Given the description of an element on the screen output the (x, y) to click on. 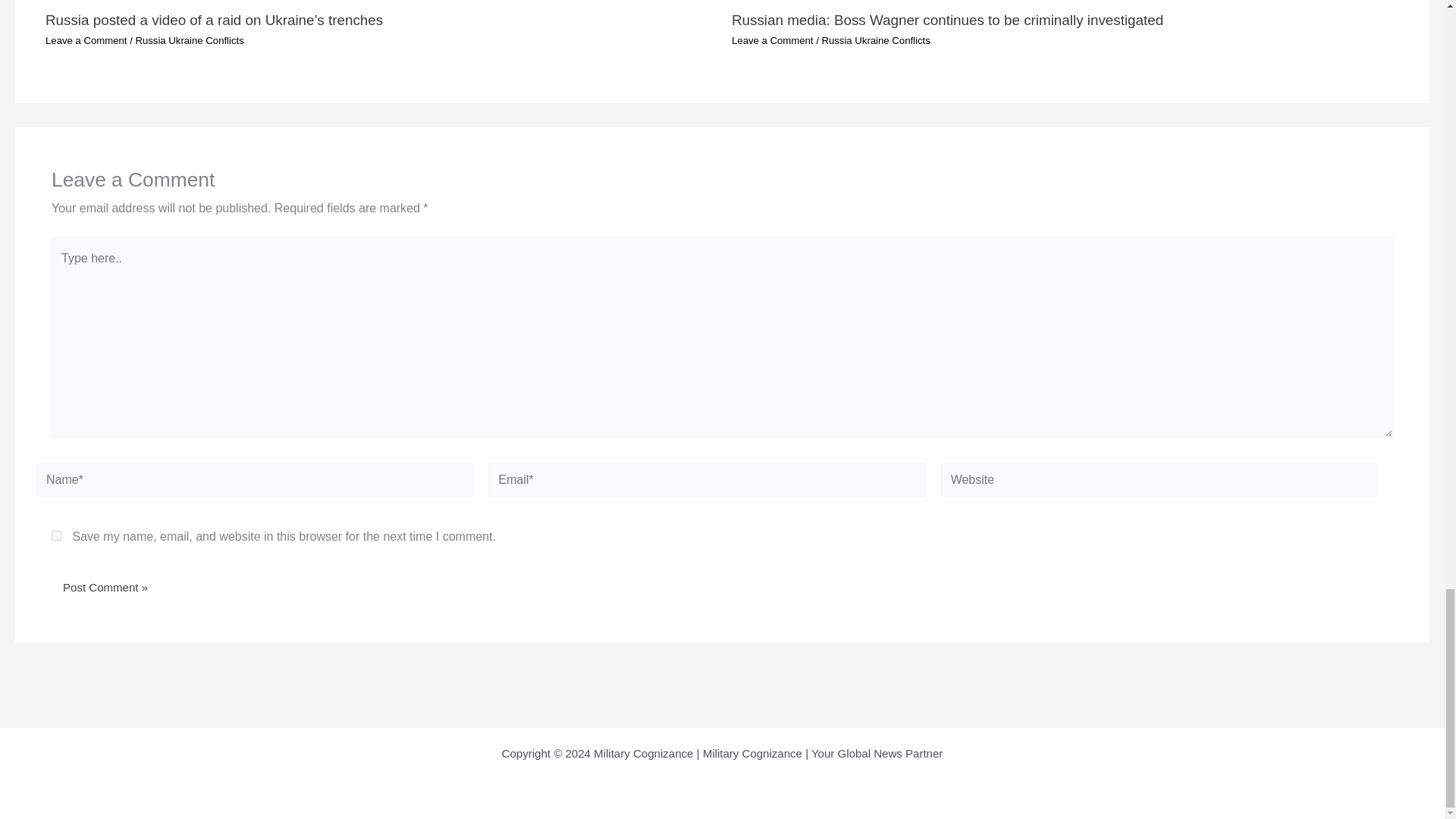
Leave a Comment (86, 40)
Russia Ukraine Conflicts (189, 40)
yes (55, 535)
